Given the description of an element on the screen output the (x, y) to click on. 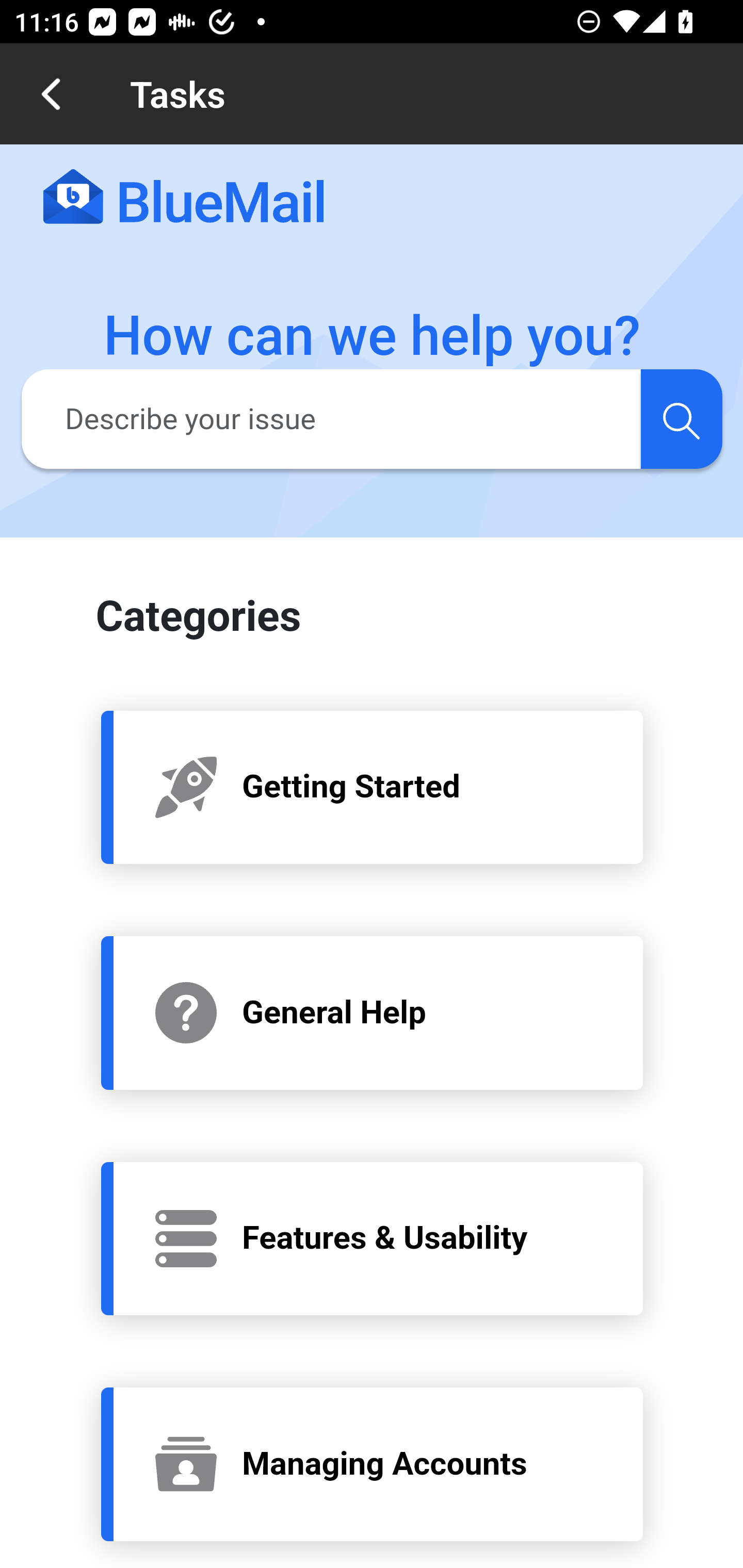
Navigate up (50, 93)
BlueMail Logo (184, 197)
How can we help you? (372, 336)
search (680, 418)
icon Getting Started icon Getting Started (372, 785)
icon General Help icon General Help (372, 1011)
icon Managing Accounts icon Managing Accounts (372, 1463)
